Given the description of an element on the screen output the (x, y) to click on. 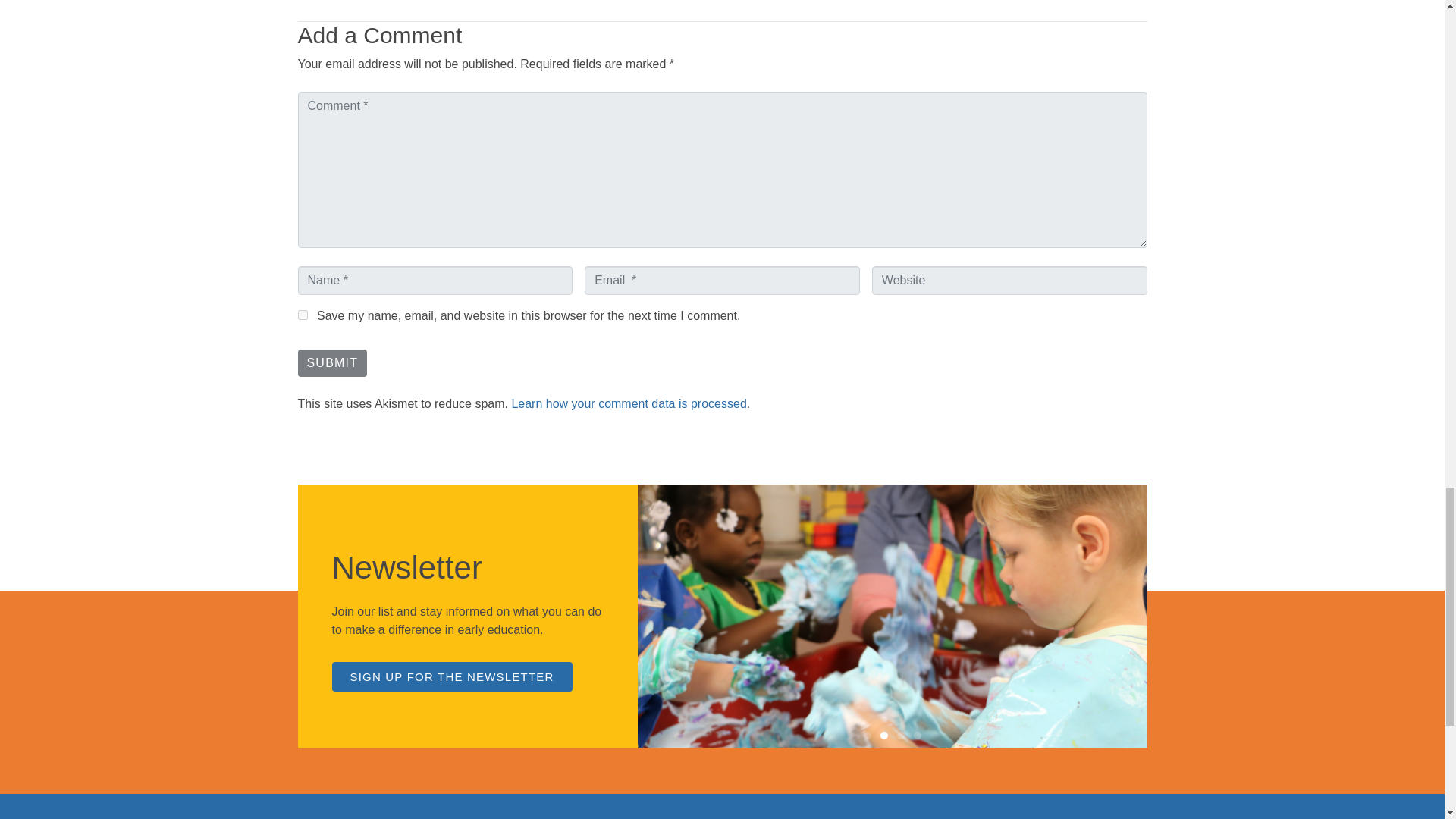
yes (302, 315)
